Given the description of an element on the screen output the (x, y) to click on. 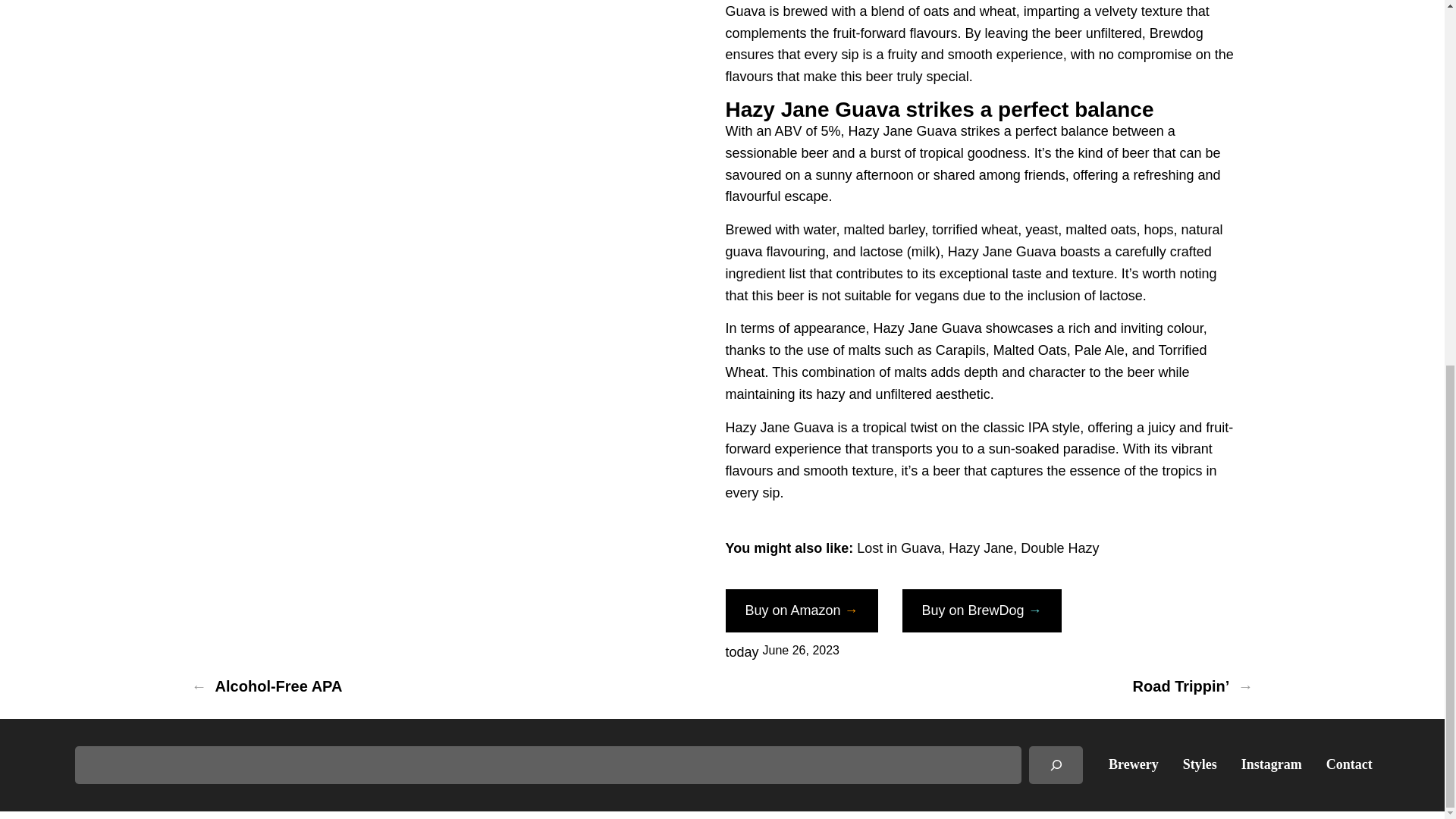
Instagram (1271, 764)
Brewery (1133, 764)
Lost in Guava (898, 547)
Contact (1349, 764)
Hazy Jane (981, 547)
Double Hazy (1059, 547)
Alcohol-Free APA (278, 686)
Styles (1199, 764)
